Given the description of an element on the screen output the (x, y) to click on. 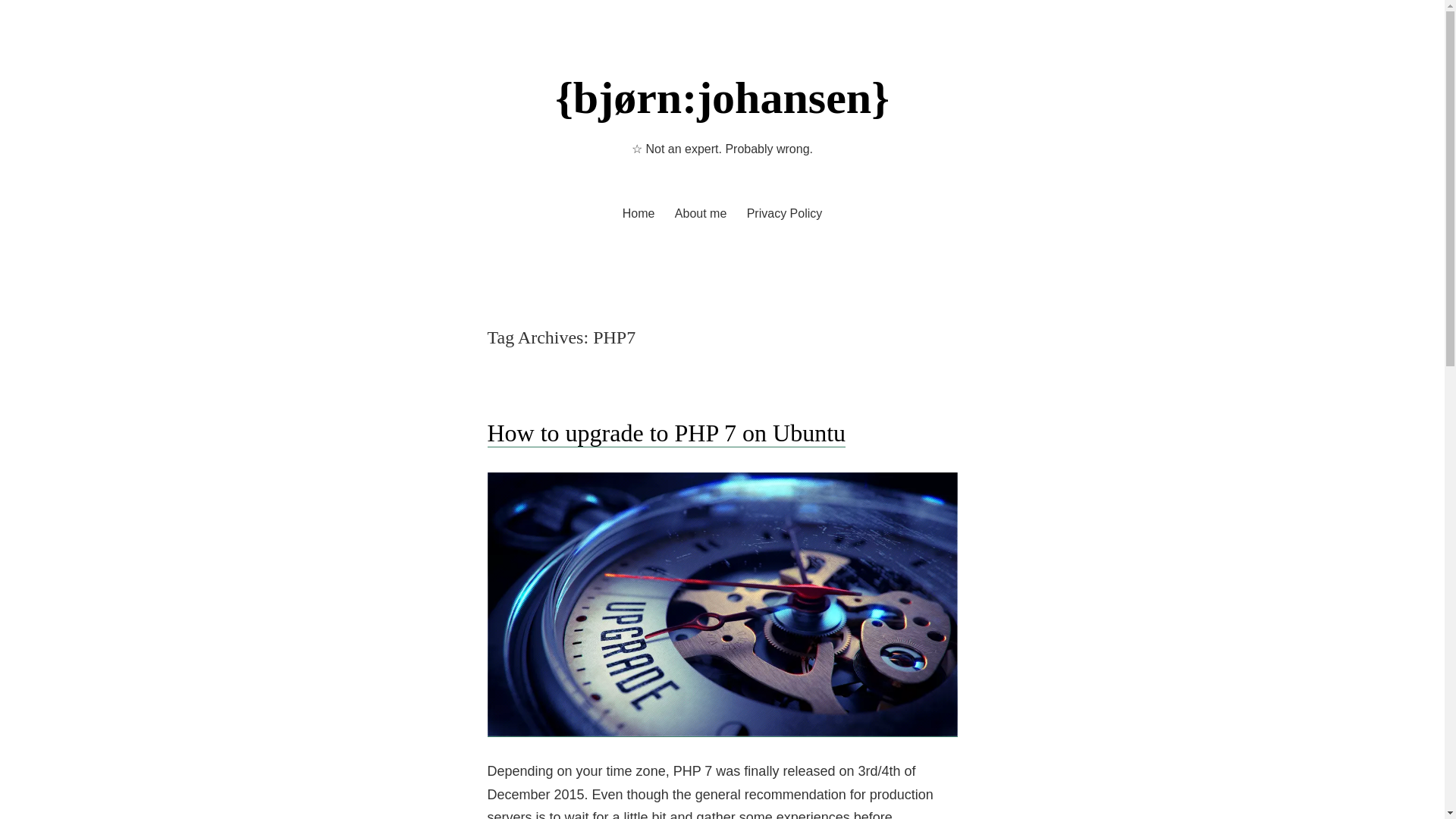
How to upgrade to PHP 7 on Ubuntu (665, 433)
About me (700, 213)
Home (639, 213)
Privacy Policy (784, 213)
